Given the description of an element on the screen output the (x, y) to click on. 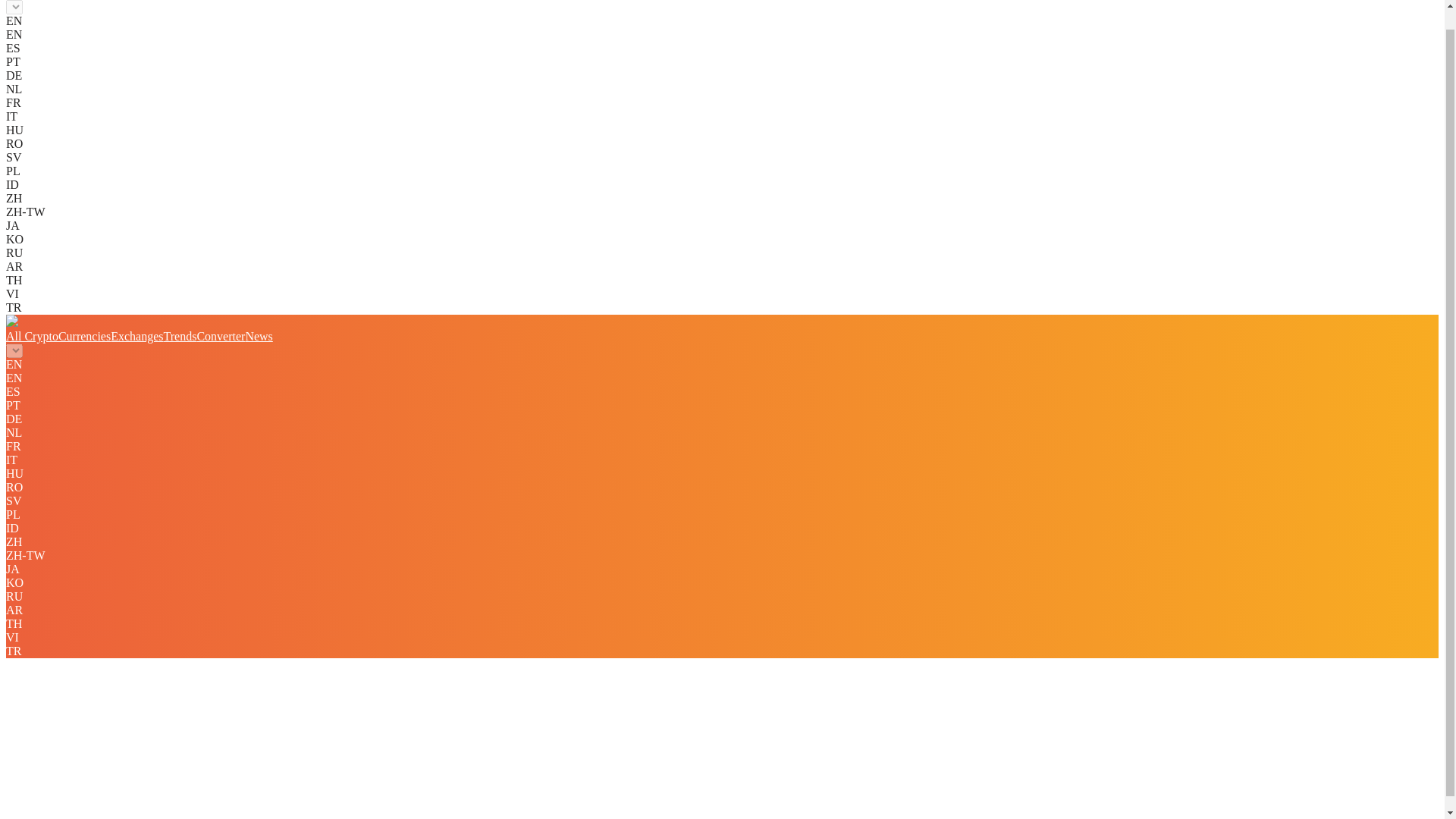
Converter (220, 336)
All CryptoCurrencies (57, 336)
Exchanges (136, 336)
News (258, 336)
Trends (179, 336)
